Given the description of an element on the screen output the (x, y) to click on. 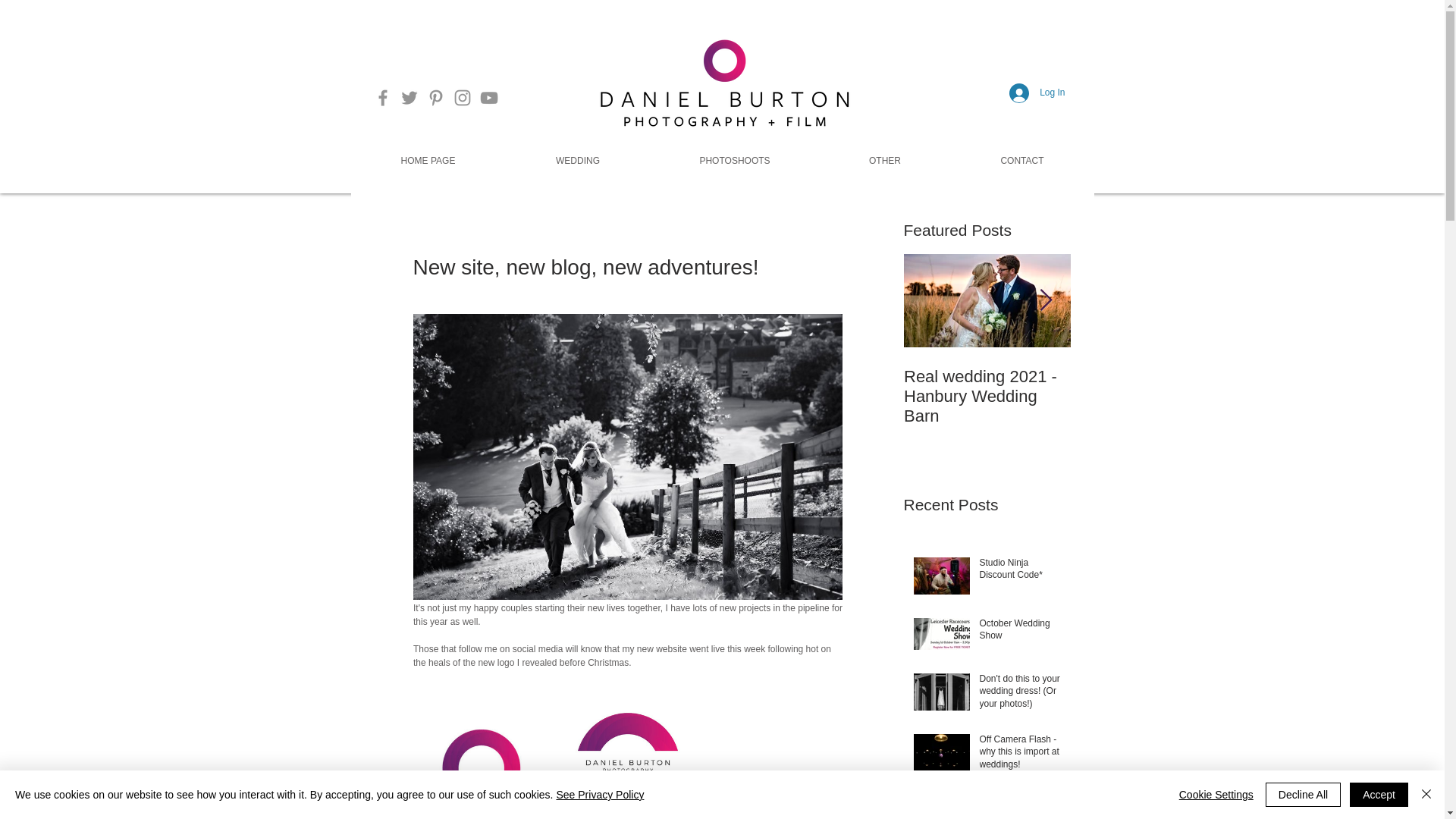
HOME PAGE (428, 160)
English Wedding Awards 2022 (1020, 806)
October Wedding Show (1020, 633)
Real wedding 2021 - Hanbury Wedding Barn (987, 395)
Off Camera Flash - why this is import at weddings! (1020, 755)
Log In (1036, 92)
PHOTOSHOOTS (734, 160)
CONTACT (1021, 160)
New UK wedding rules from 21st June 2021 (1153, 395)
